Given the description of an element on the screen output the (x, y) to click on. 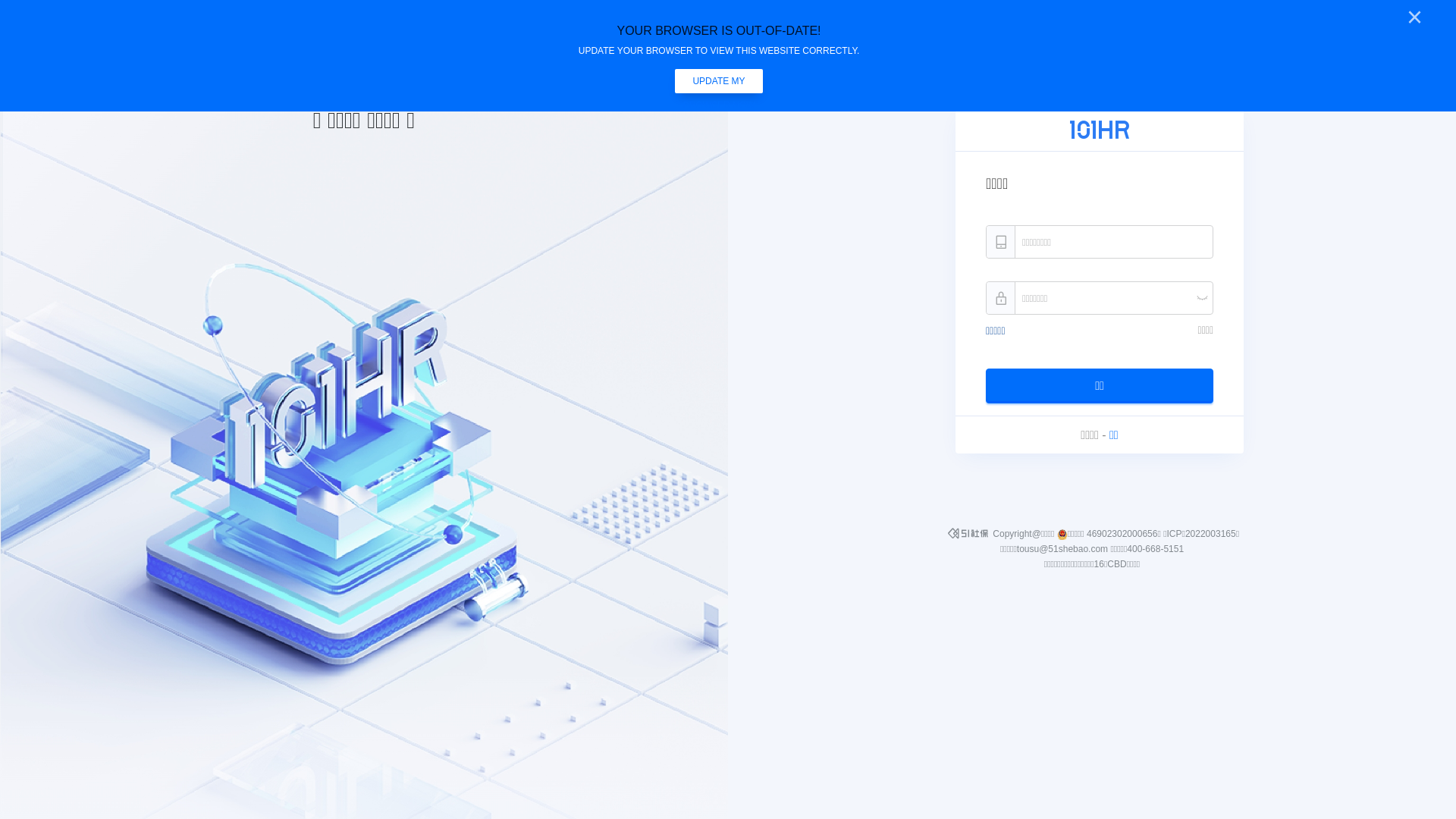
UPDATE MY BROWSER NOW Element type: text (718, 81)
